Given the description of an element on the screen output the (x, y) to click on. 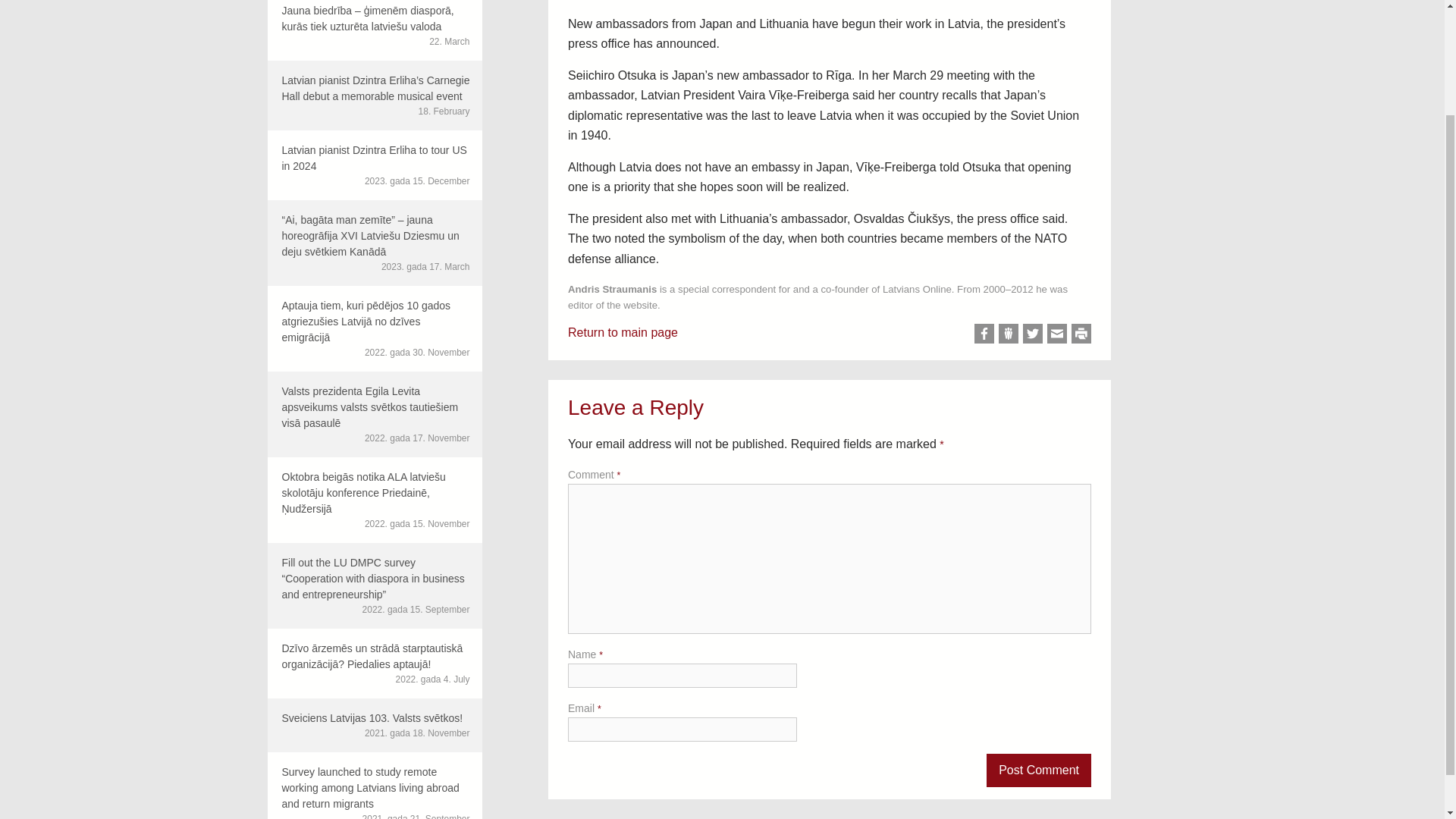
Share on Draugiem.lv (1007, 333)
Share via Email (1056, 333)
Print (1080, 333)
Post Comment (1038, 770)
Share on Twitter (1032, 333)
Return to main page (622, 332)
Share on Facebook (984, 333)
